Given the description of an element on the screen output the (x, y) to click on. 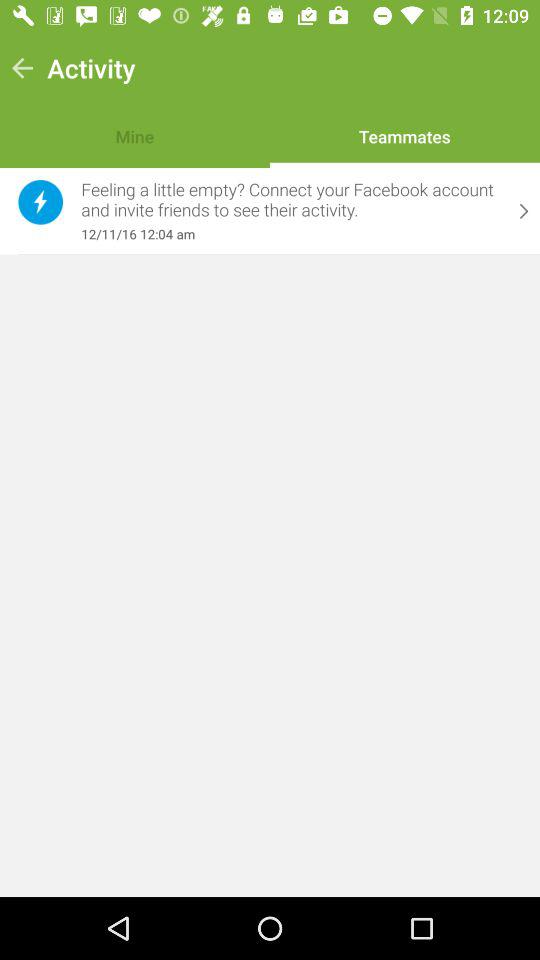
press the item next to the feeling a little (40, 202)
